Given the description of an element on the screen output the (x, y) to click on. 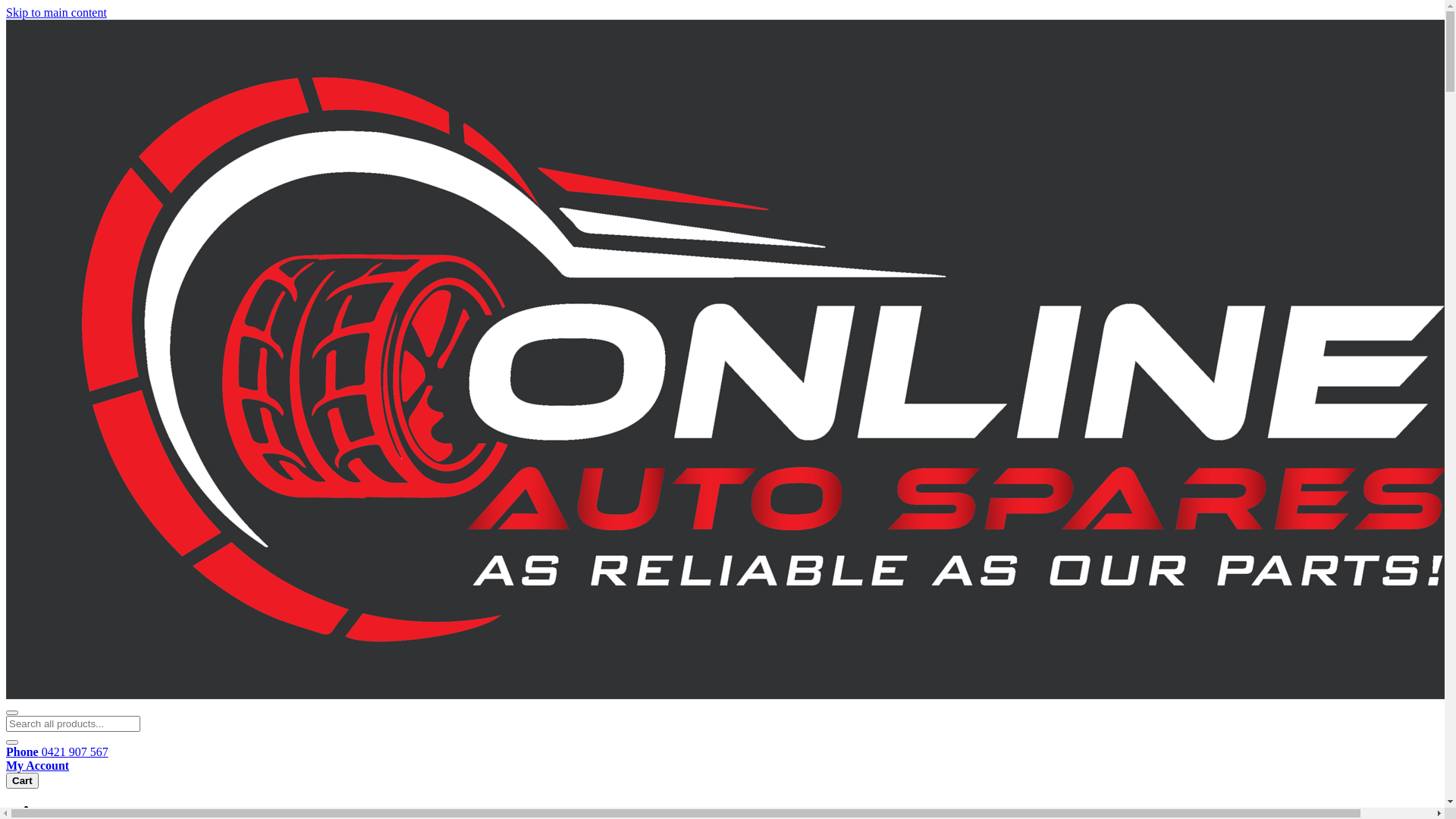
Search Element type: text (12, 742)
My Account Element type: text (722, 765)
Phone 0421 907 567 Element type: text (722, 752)
Skip to main content Element type: text (56, 12)
Cart Element type: text (22, 780)
